Given the description of an element on the screen output the (x, y) to click on. 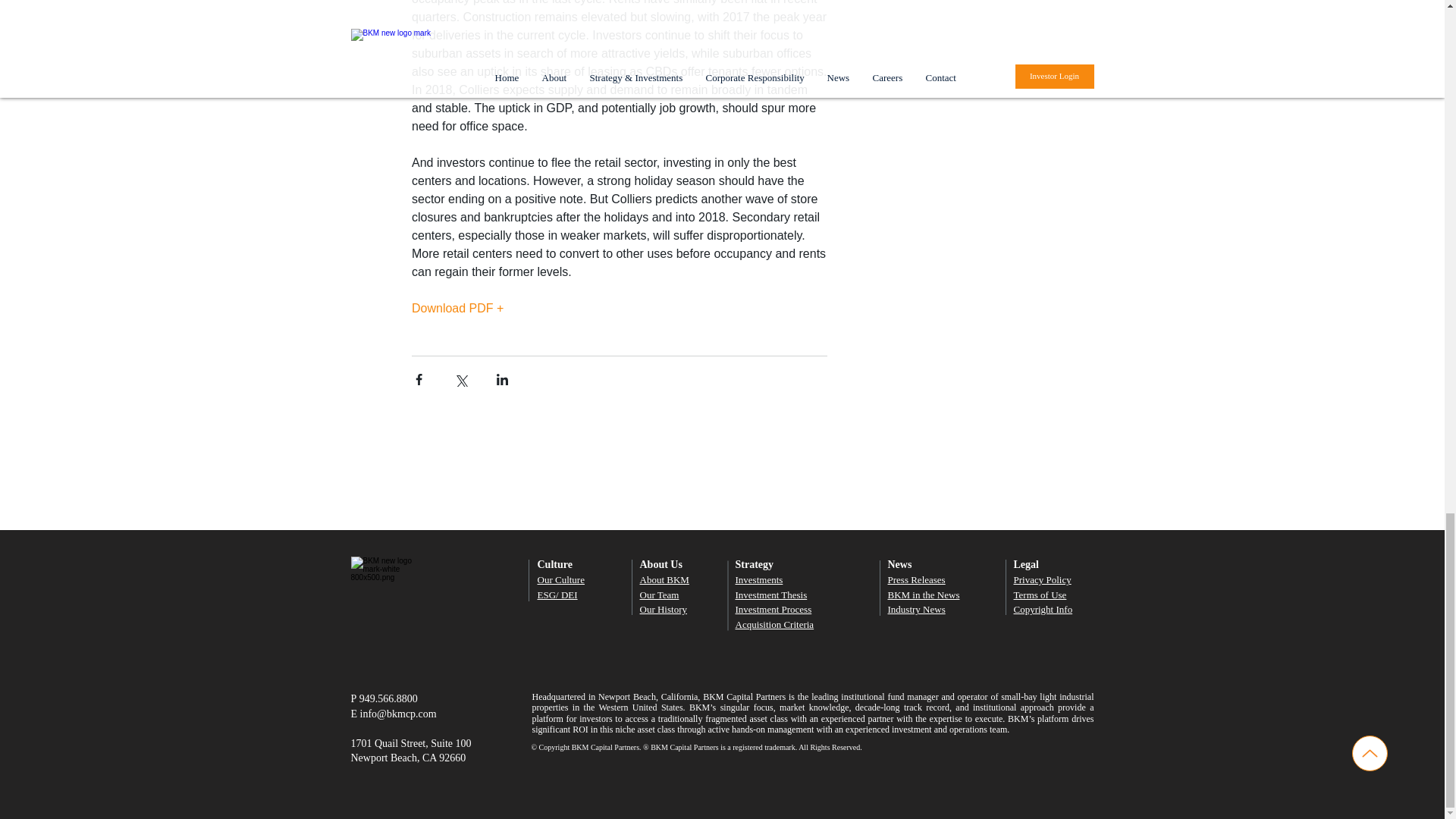
Acquisition Criteria (774, 624)
Investments (759, 579)
Our Team (659, 594)
Press Releases (915, 579)
Investment Thesis (771, 594)
Our History (663, 609)
About BKM (664, 579)
BKM in the News (922, 594)
Our Culture (560, 579)
Investment Process (773, 609)
